Given the description of an element on the screen output the (x, y) to click on. 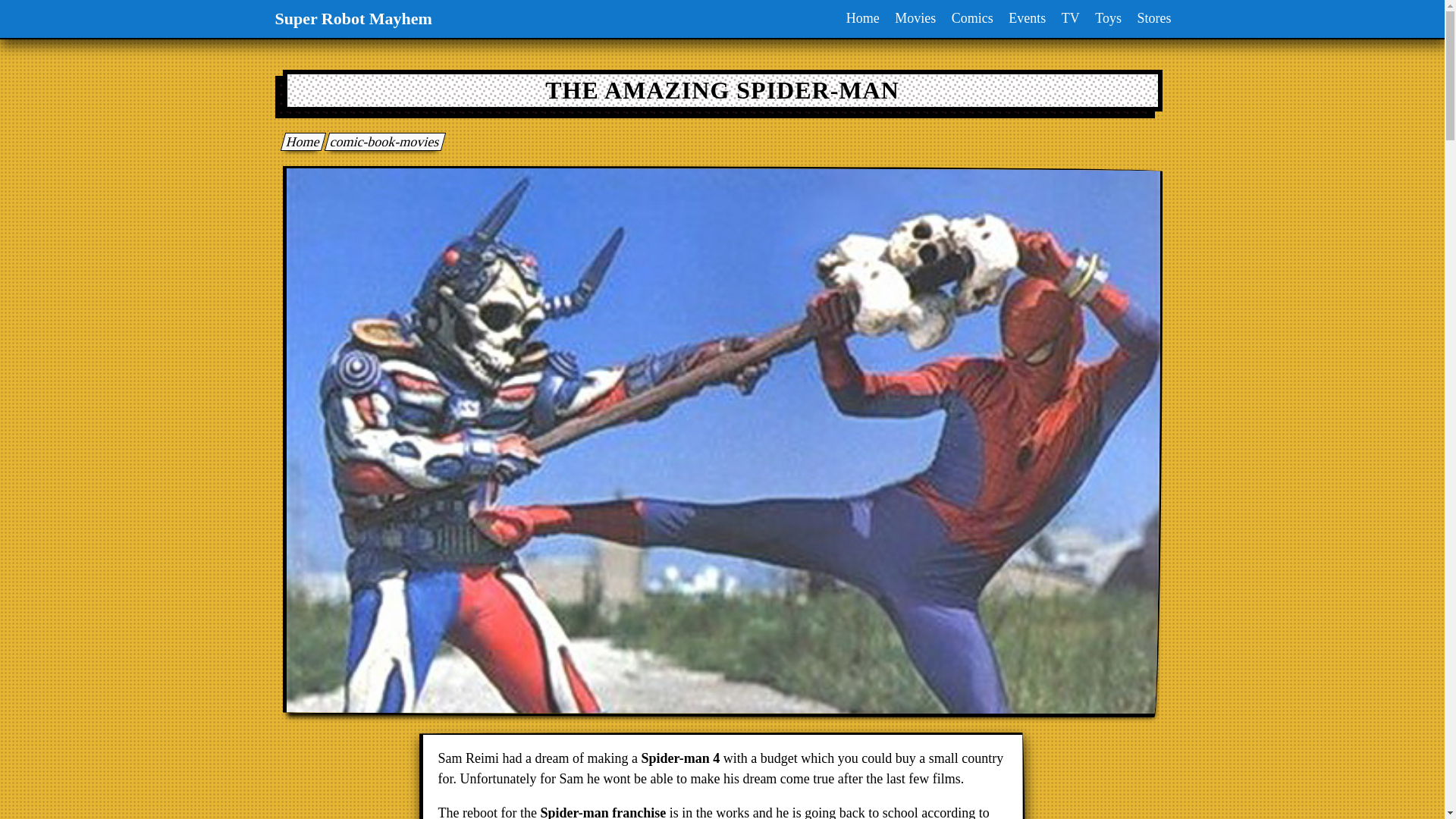
comic-book-movies (382, 141)
comic-book-movies (382, 141)
Super Robot Mayhem (352, 18)
Super Robot Mayhem (352, 18)
Super Robot Mayhem (299, 141)
Stores (1154, 18)
Events (1027, 18)
Toys (1107, 18)
Movies (915, 18)
Home (299, 141)
